Given the description of an element on the screen output the (x, y) to click on. 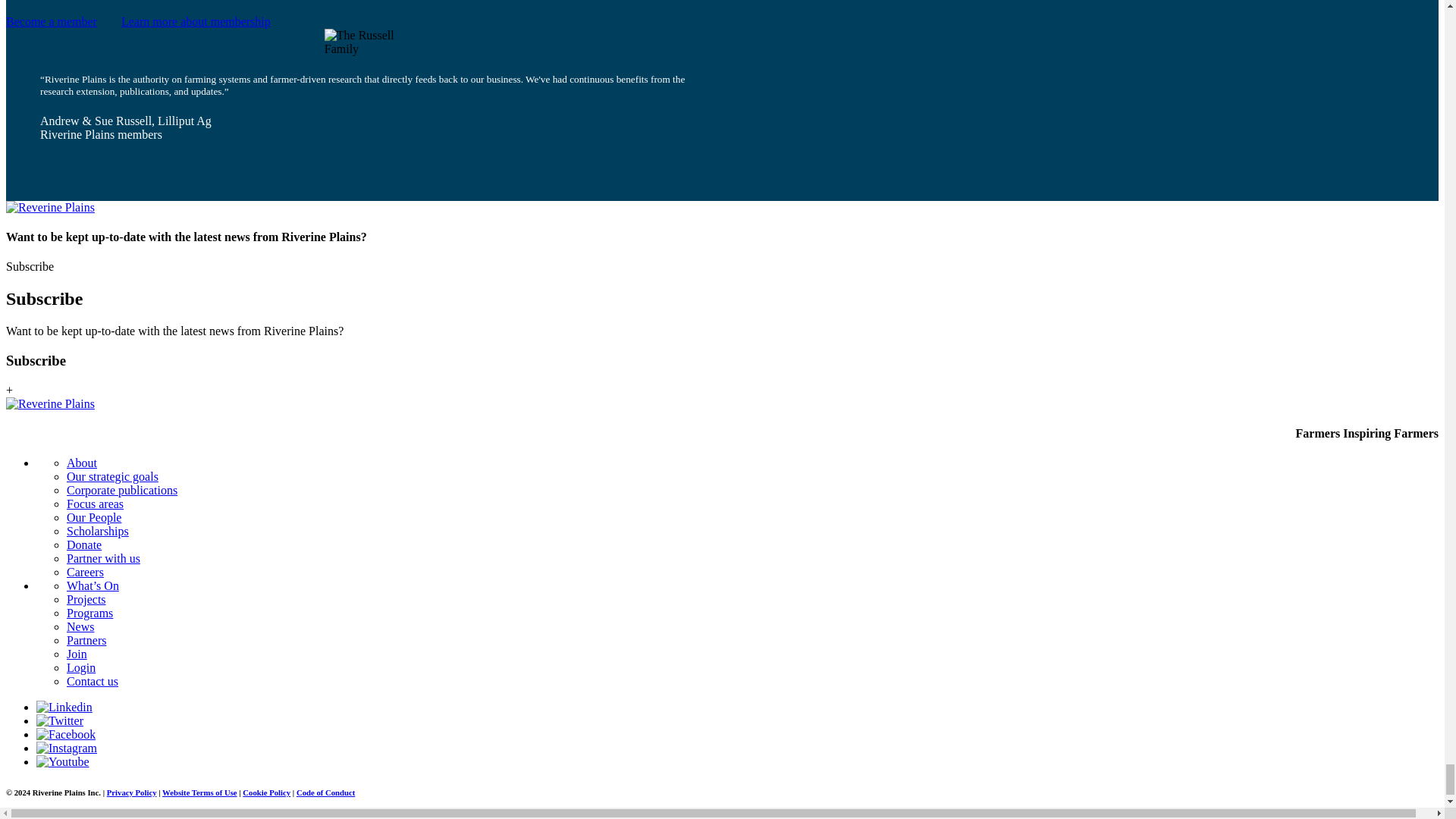
Reverine Plains (49, 404)
Reverine Plains (49, 207)
